Given the description of an element on the screen output the (x, y) to click on. 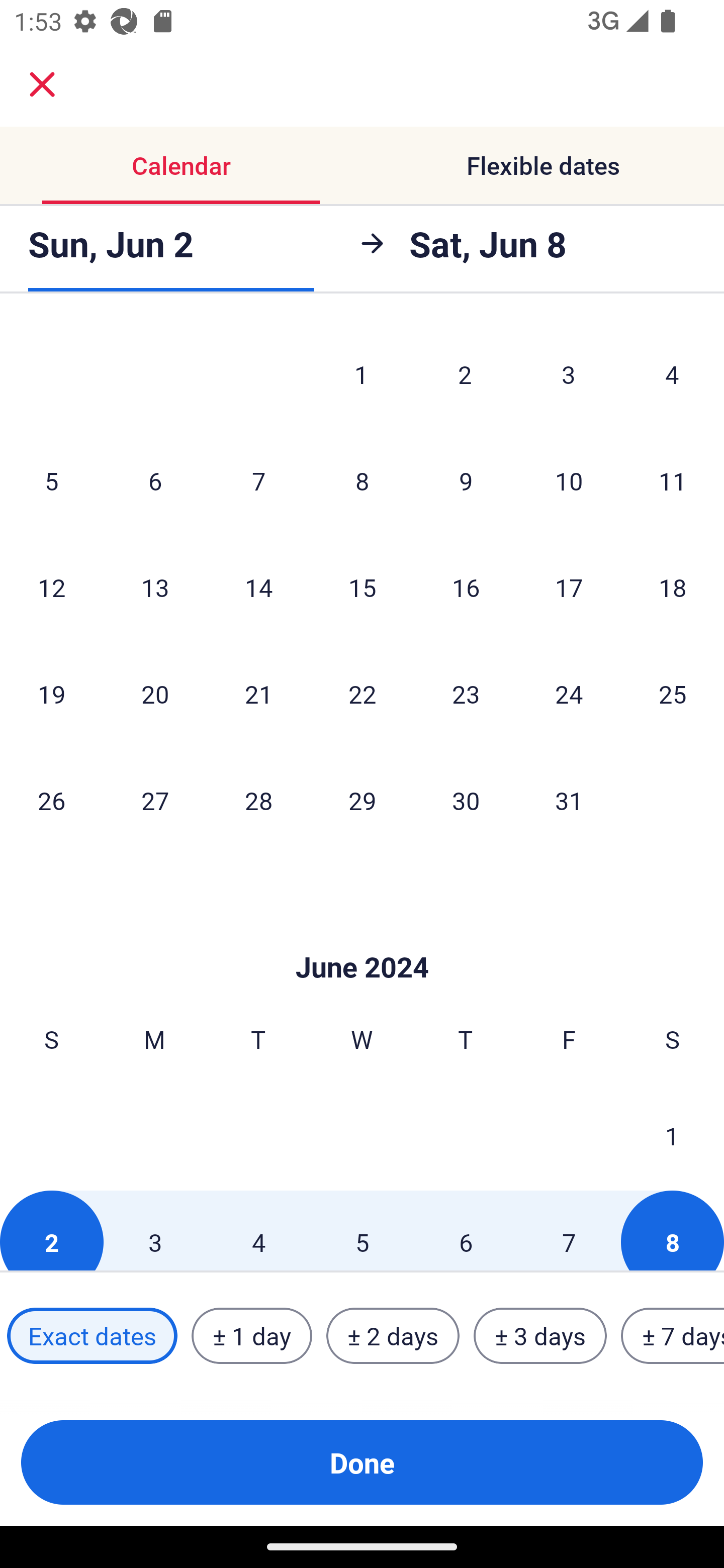
close. (42, 84)
Flexible dates (542, 164)
1 Wednesday, May 1, 2024 (361, 373)
2 Thursday, May 2, 2024 (464, 373)
3 Friday, May 3, 2024 (568, 373)
4 Saturday, May 4, 2024 (672, 373)
5 Sunday, May 5, 2024 (51, 480)
6 Monday, May 6, 2024 (155, 480)
7 Tuesday, May 7, 2024 (258, 480)
8 Wednesday, May 8, 2024 (362, 480)
9 Thursday, May 9, 2024 (465, 480)
10 Friday, May 10, 2024 (569, 480)
11 Saturday, May 11, 2024 (672, 480)
12 Sunday, May 12, 2024 (51, 587)
13 Monday, May 13, 2024 (155, 587)
14 Tuesday, May 14, 2024 (258, 587)
15 Wednesday, May 15, 2024 (362, 587)
16 Thursday, May 16, 2024 (465, 587)
17 Friday, May 17, 2024 (569, 587)
18 Saturday, May 18, 2024 (672, 587)
19 Sunday, May 19, 2024 (51, 693)
20 Monday, May 20, 2024 (155, 693)
21 Tuesday, May 21, 2024 (258, 693)
22 Wednesday, May 22, 2024 (362, 693)
23 Thursday, May 23, 2024 (465, 693)
24 Friday, May 24, 2024 (569, 693)
25 Saturday, May 25, 2024 (672, 693)
26 Sunday, May 26, 2024 (51, 800)
27 Monday, May 27, 2024 (155, 800)
28 Tuesday, May 28, 2024 (258, 800)
29 Wednesday, May 29, 2024 (362, 800)
30 Thursday, May 30, 2024 (465, 800)
31 Friday, May 31, 2024 (569, 800)
Skip to Done (362, 937)
1 Saturday, June 1, 2024 (672, 1134)
Exact dates (92, 1335)
± 1 day (251, 1335)
± 2 days (392, 1335)
± 3 days (539, 1335)
± 7 days (672, 1335)
Done (361, 1462)
